Given the description of an element on the screen output the (x, y) to click on. 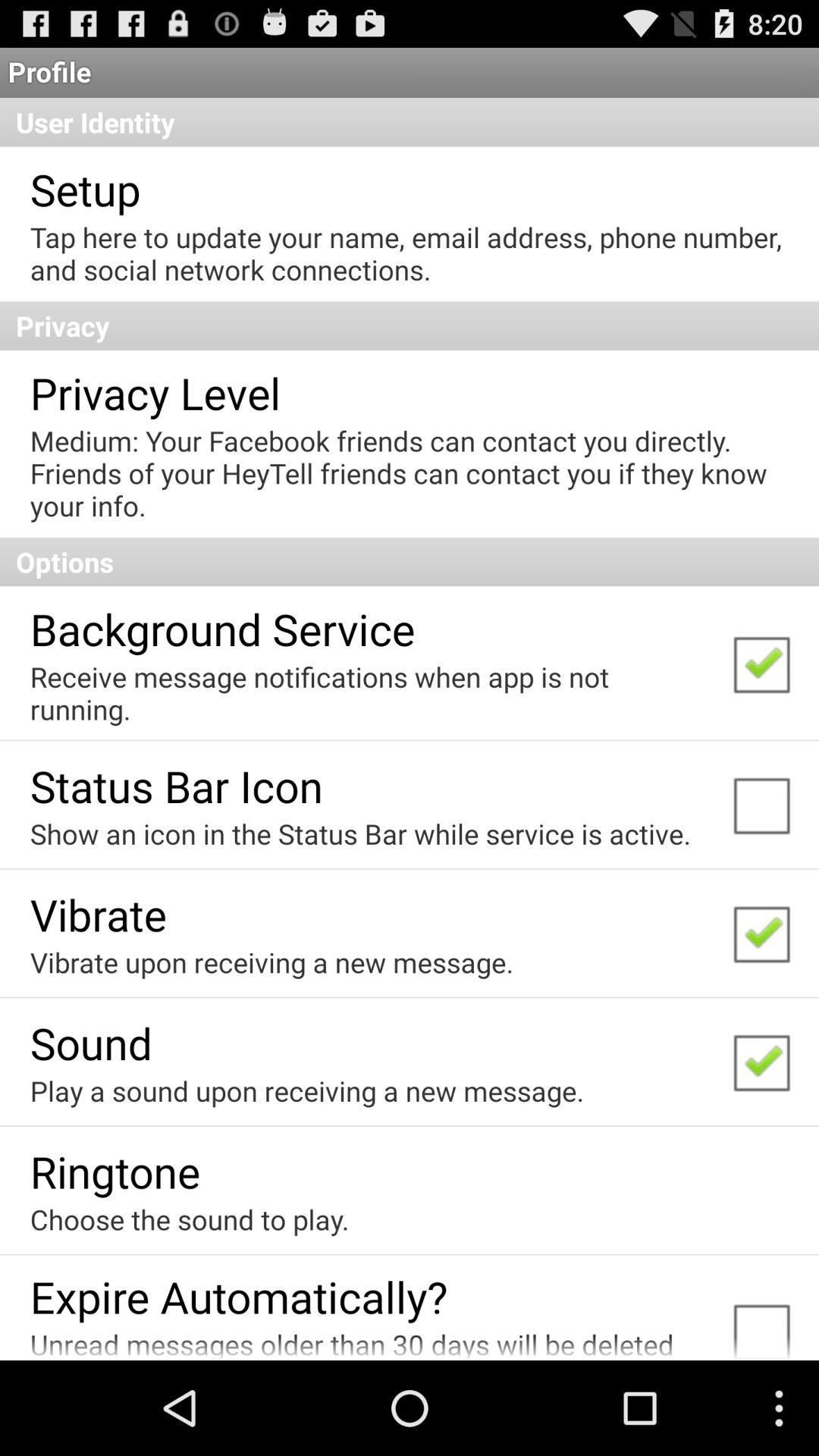
press icon below ringtone (189, 1219)
